Given the description of an element on the screen output the (x, y) to click on. 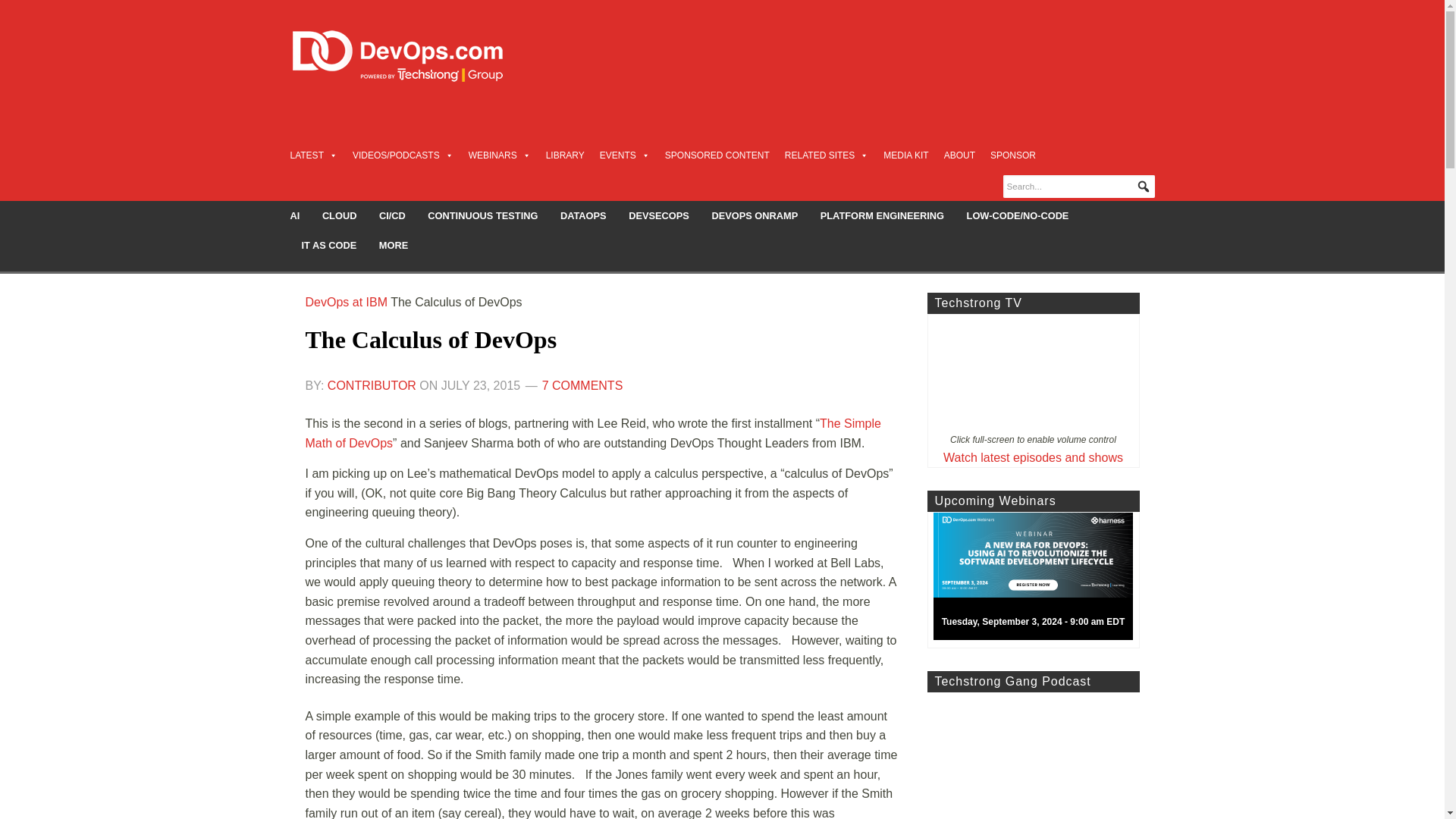
RELATED SITES (825, 155)
SPONSORED CONTENT (717, 155)
Tuesday, September 3, 2024 - 9:00 am EDT (1038, 579)
EVENTS (624, 155)
Techstrong Gang (1032, 755)
DEVOPS.COM (414, 56)
LIBRARY (565, 155)
WEBINARS (499, 155)
LATEST (312, 155)
